Given the description of an element on the screen output the (x, y) to click on. 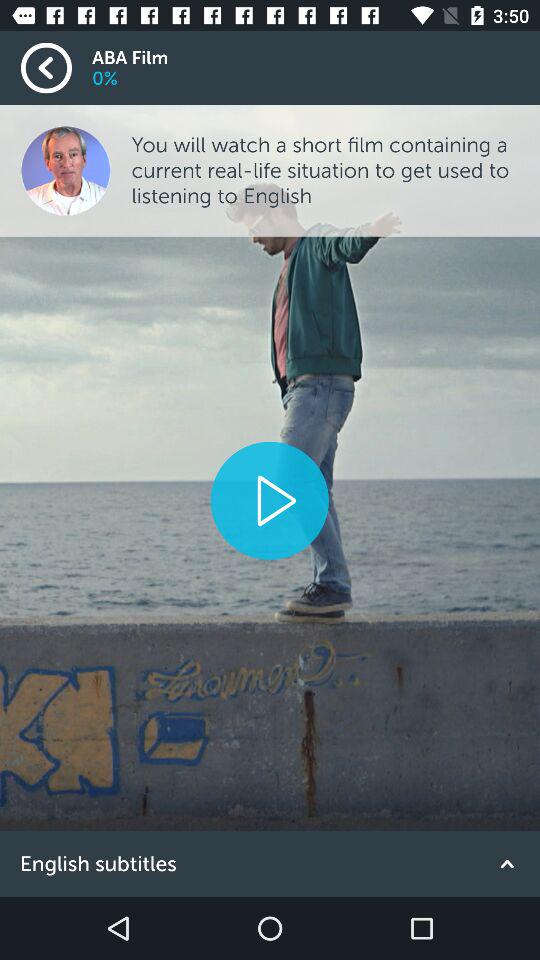
press the item next to aba film (56, 67)
